Given the description of an element on the screen output the (x, y) to click on. 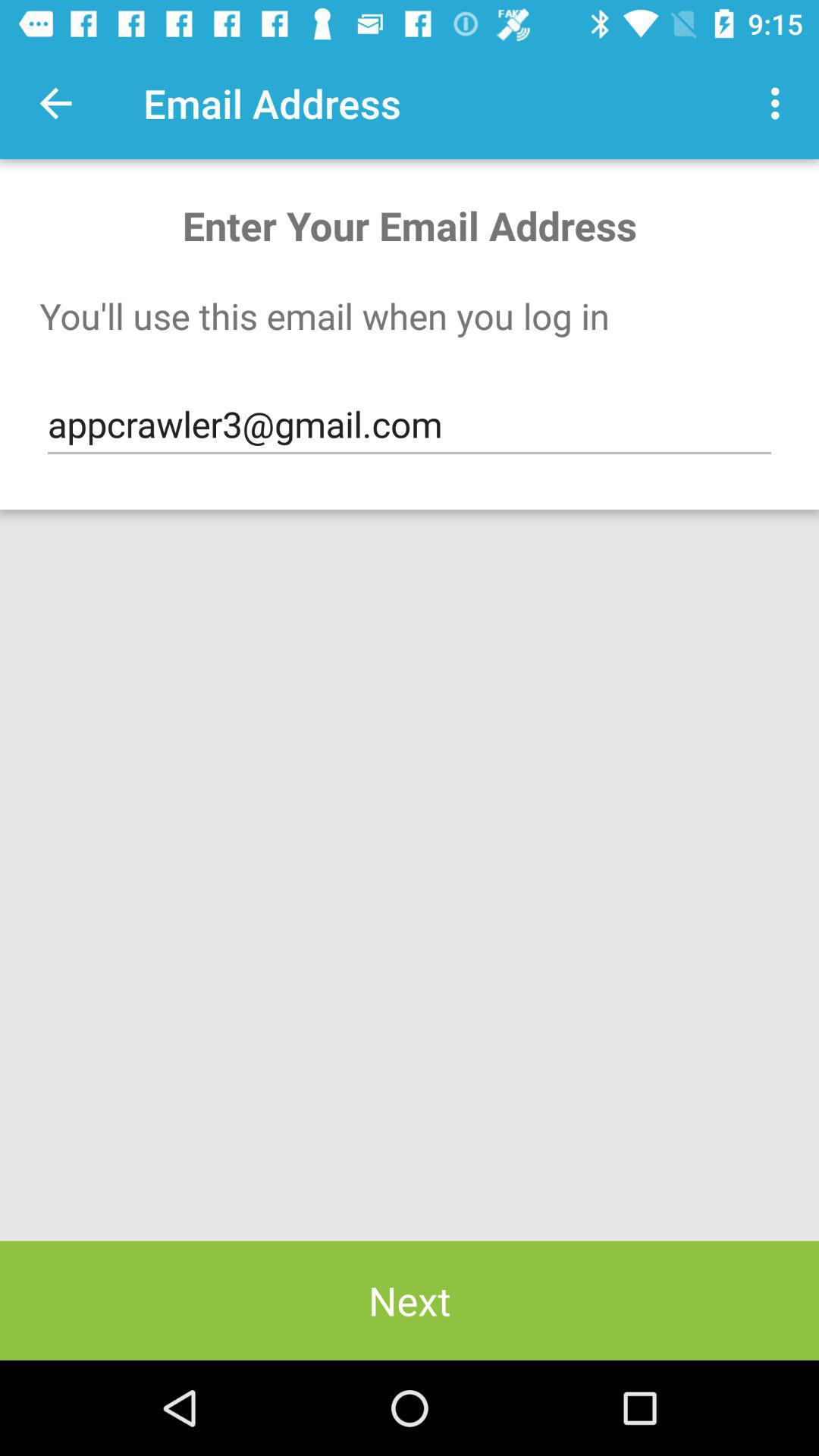
open icon above the enter your email icon (55, 103)
